Given the description of an element on the screen output the (x, y) to click on. 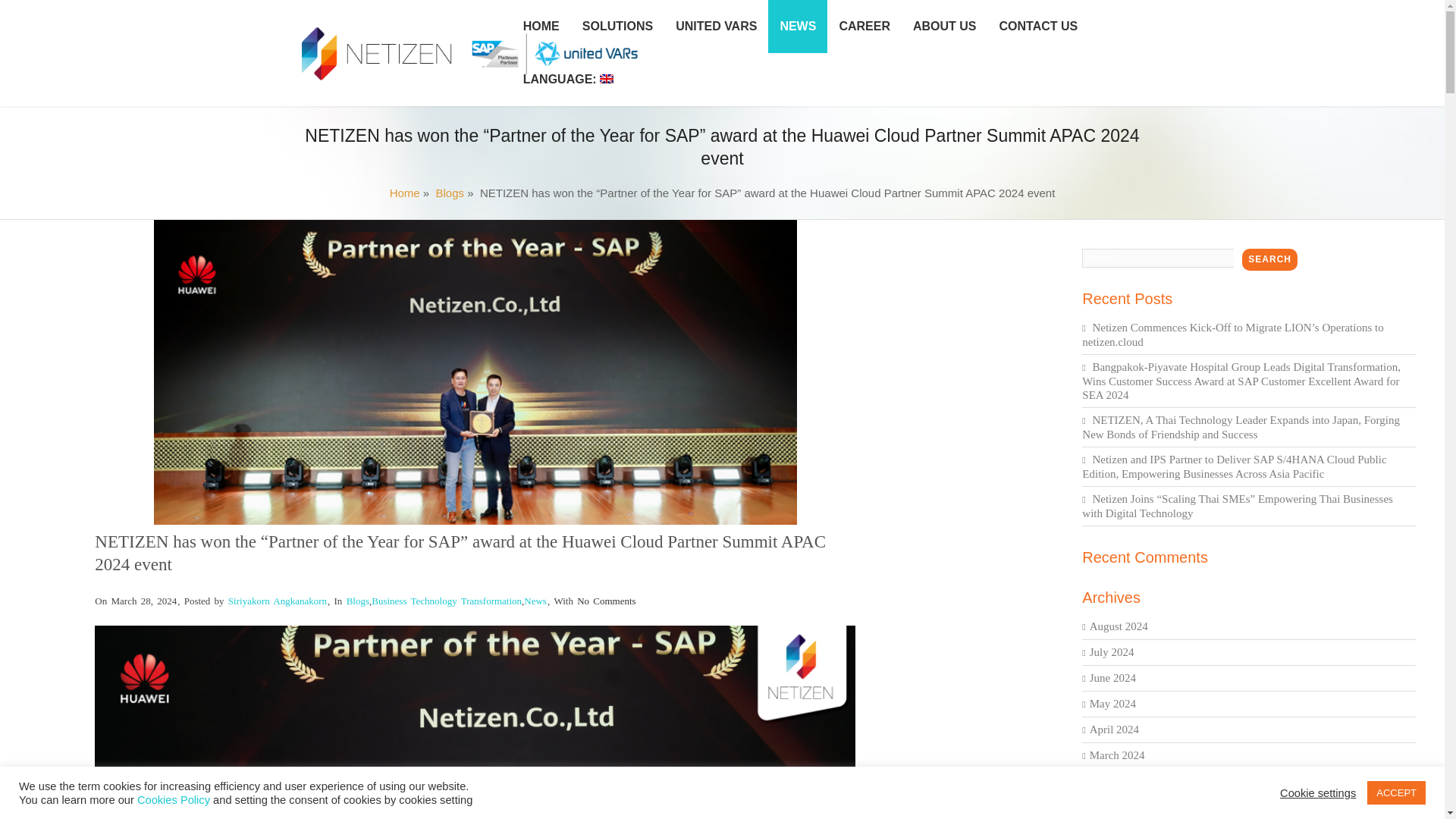
Search (1269, 259)
Search (1269, 259)
NEWS (797, 26)
January 2024 (1119, 780)
May 2024 (1112, 703)
Blogs (357, 600)
LANGUAGE:  (568, 79)
Business Technology Transformation (446, 600)
June 2024 (1112, 677)
Siriyakorn Angkanakorn (277, 600)
